Given the description of an element on the screen output the (x, y) to click on. 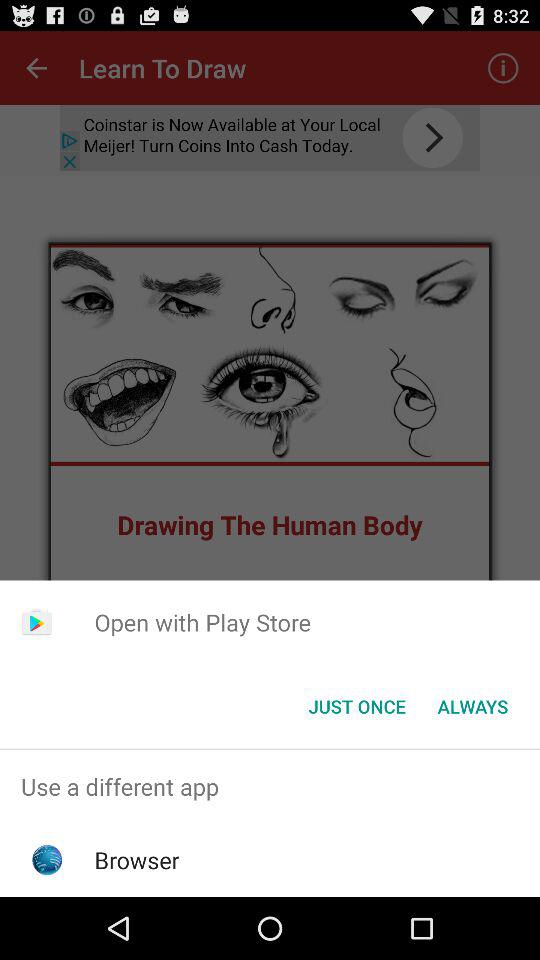
turn off the button to the right of the just once icon (472, 706)
